Given the description of an element on the screen output the (x, y) to click on. 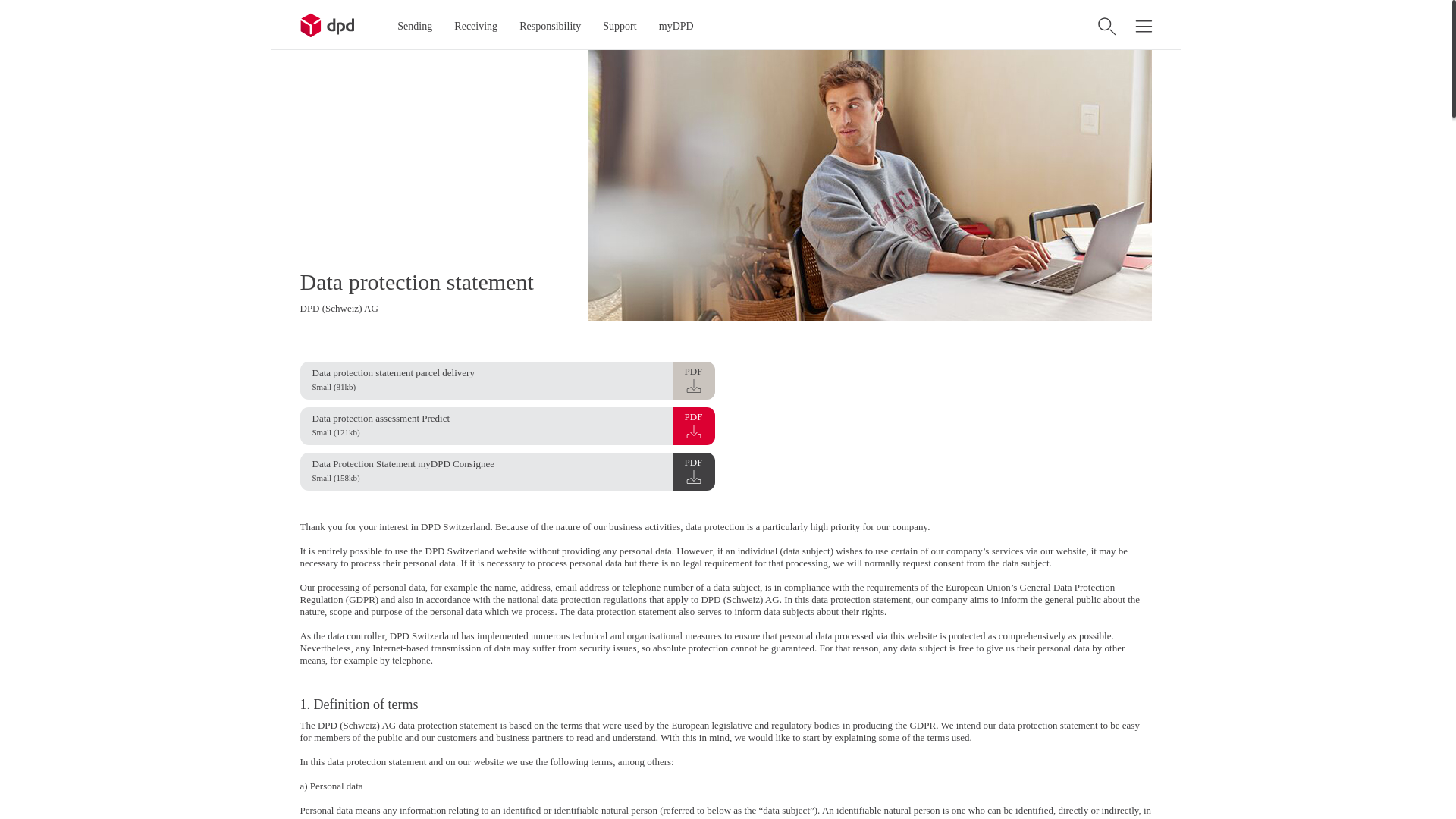
Support (620, 26)
Responsibility (551, 26)
Receiving (476, 26)
myDPD (676, 26)
Sending (416, 26)
